Given the description of an element on the screen output the (x, y) to click on. 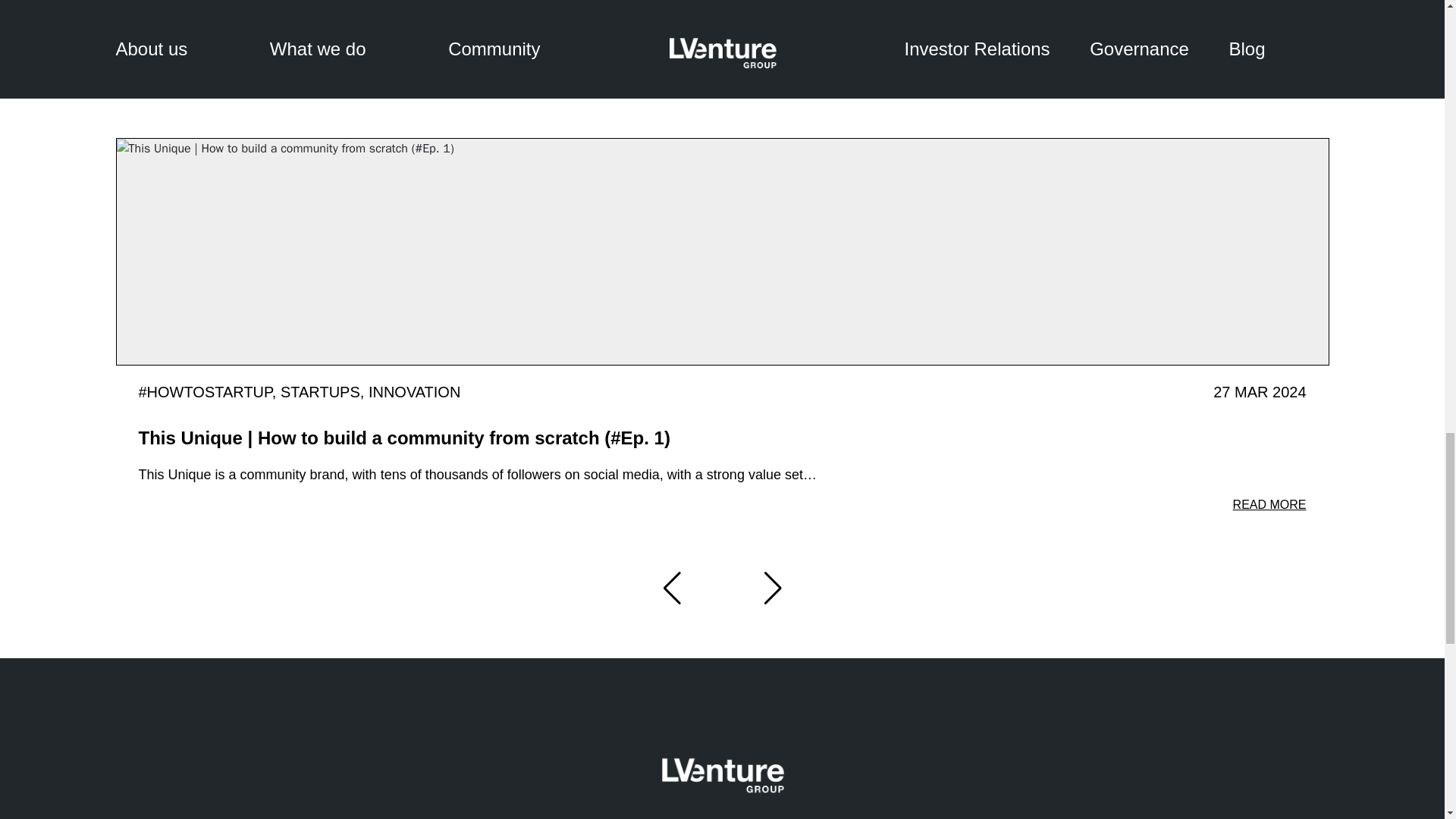
MAGAZINE (1256, 42)
READ MORE (1269, 505)
